Given the description of an element on the screen output the (x, y) to click on. 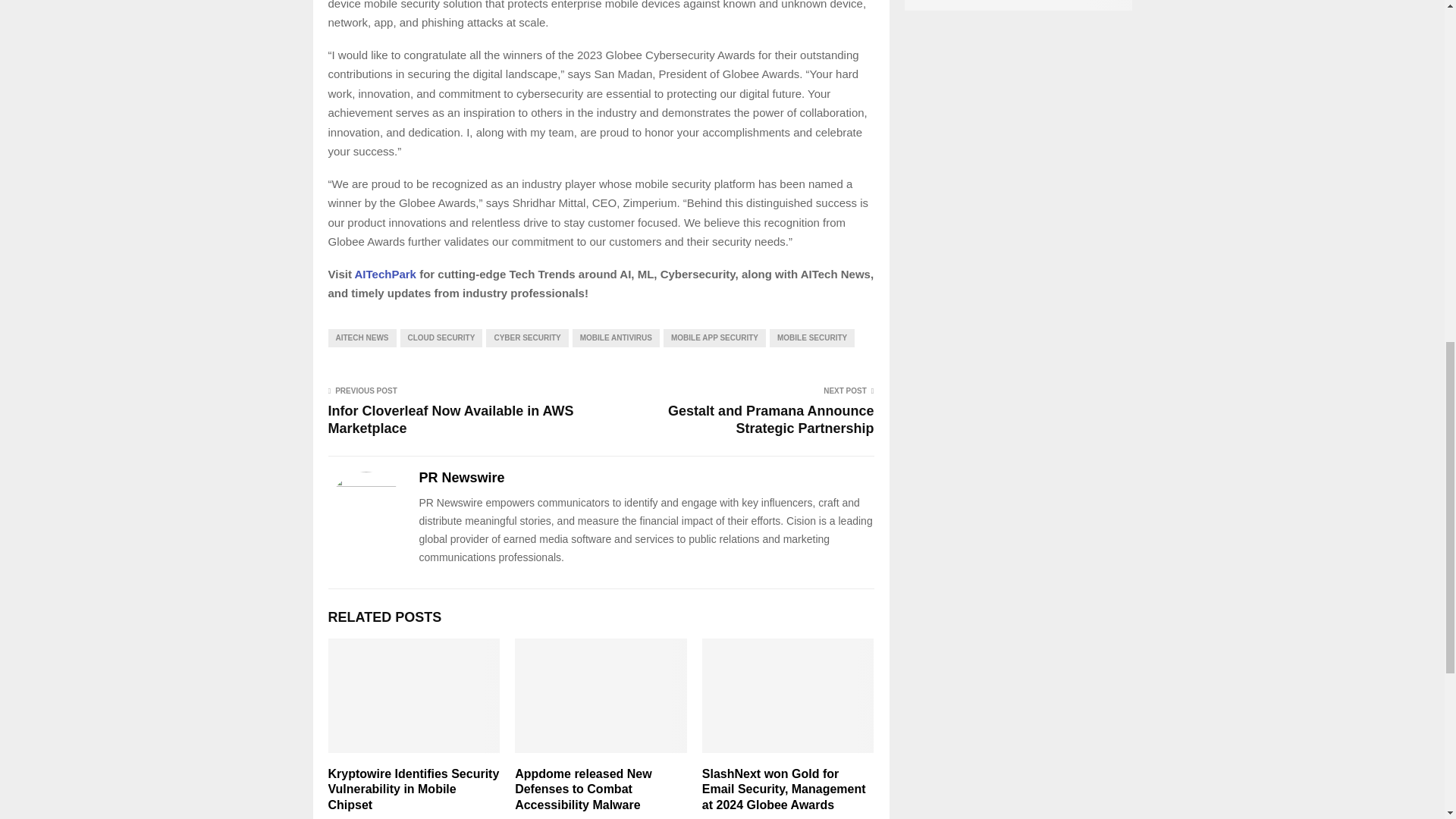
Posts by PR Newswire (461, 477)
